Given the description of an element on the screen output the (x, y) to click on. 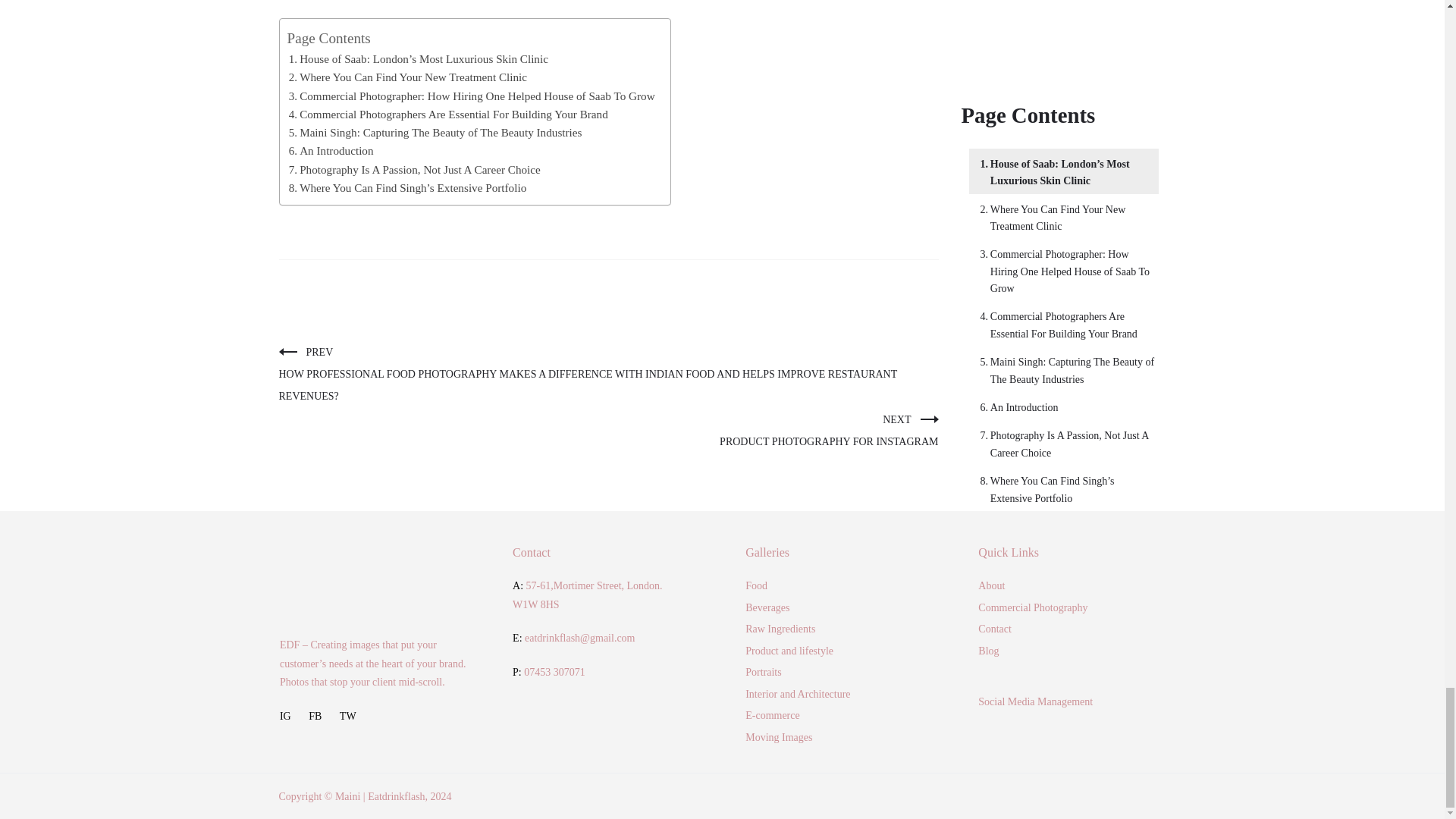
Product photography for Instagram (828, 431)
Maini Singh: Capturing The Beauty of The Beauty Industries (435, 132)
Photography Is A Passion, Not Just A Career Choice (414, 169)
An Introduction (331, 150)
Where You Can Find Your New Treatment Clinic (407, 76)
